Given the description of an element on the screen output the (x, y) to click on. 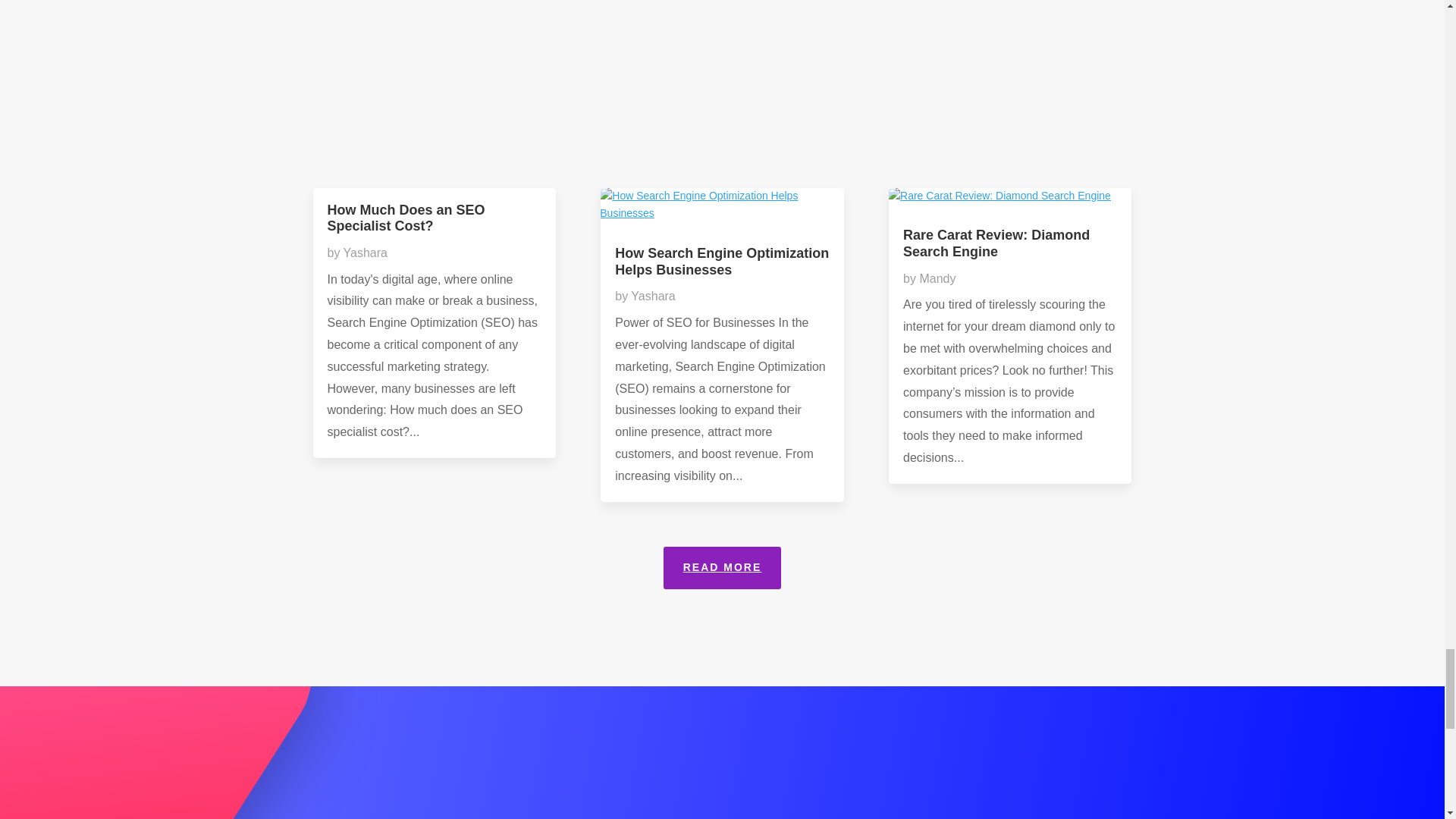
READ MORE (722, 567)
How Much Does an SEO Specialist Cost? (405, 218)
Yashara (365, 252)
Posts by Yashara (365, 252)
Posts by Mandy (936, 278)
Posts by Yashara (652, 295)
Yashara (652, 295)
Mandy (936, 278)
How Search Engine Optimization Helps Businesses (721, 261)
Rare Carat Review: Diamond Search Engine (995, 243)
